Given the description of an element on the screen output the (x, y) to click on. 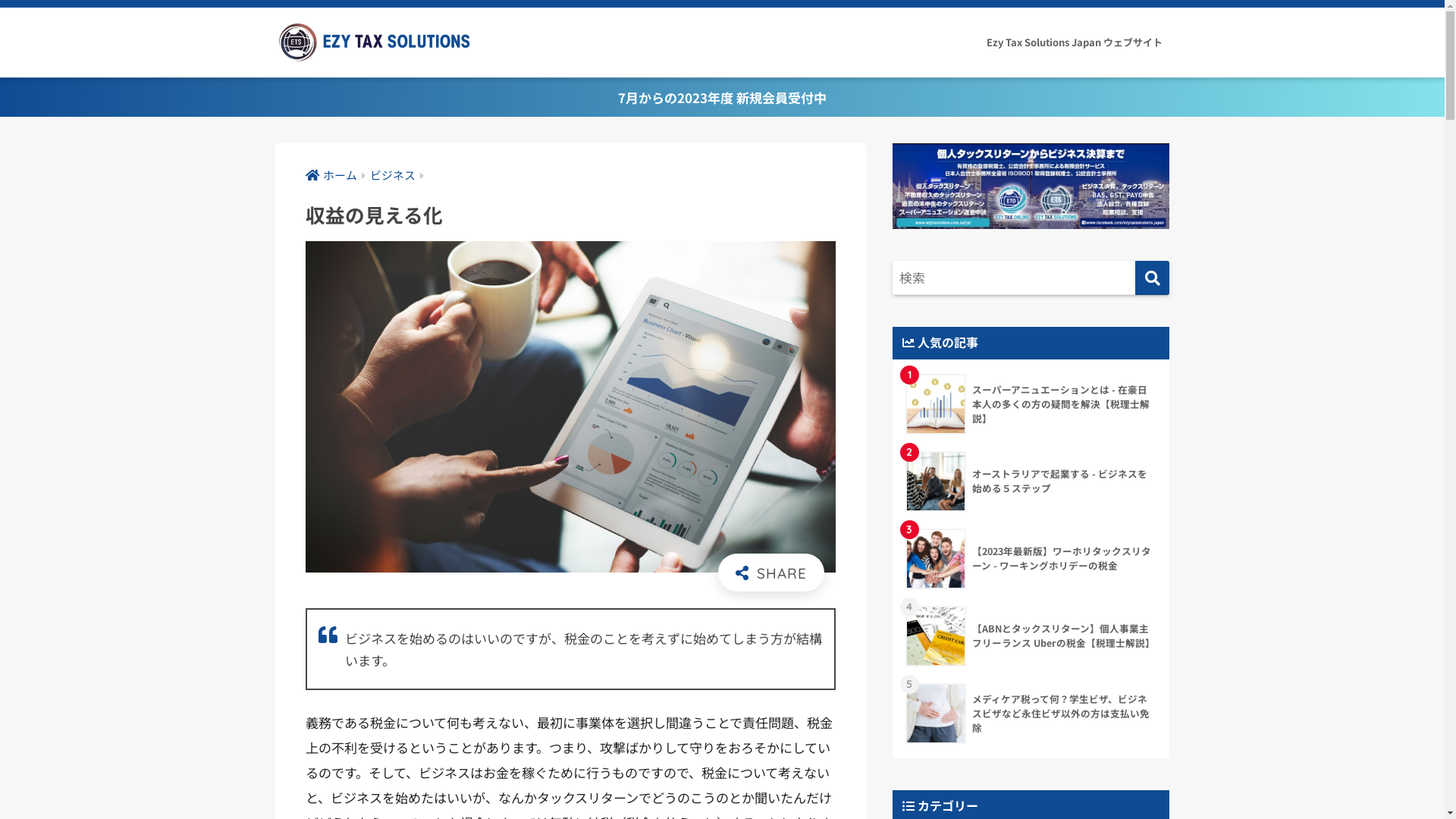
on Element type: text (4, 4)
